Given the description of an element on the screen output the (x, y) to click on. 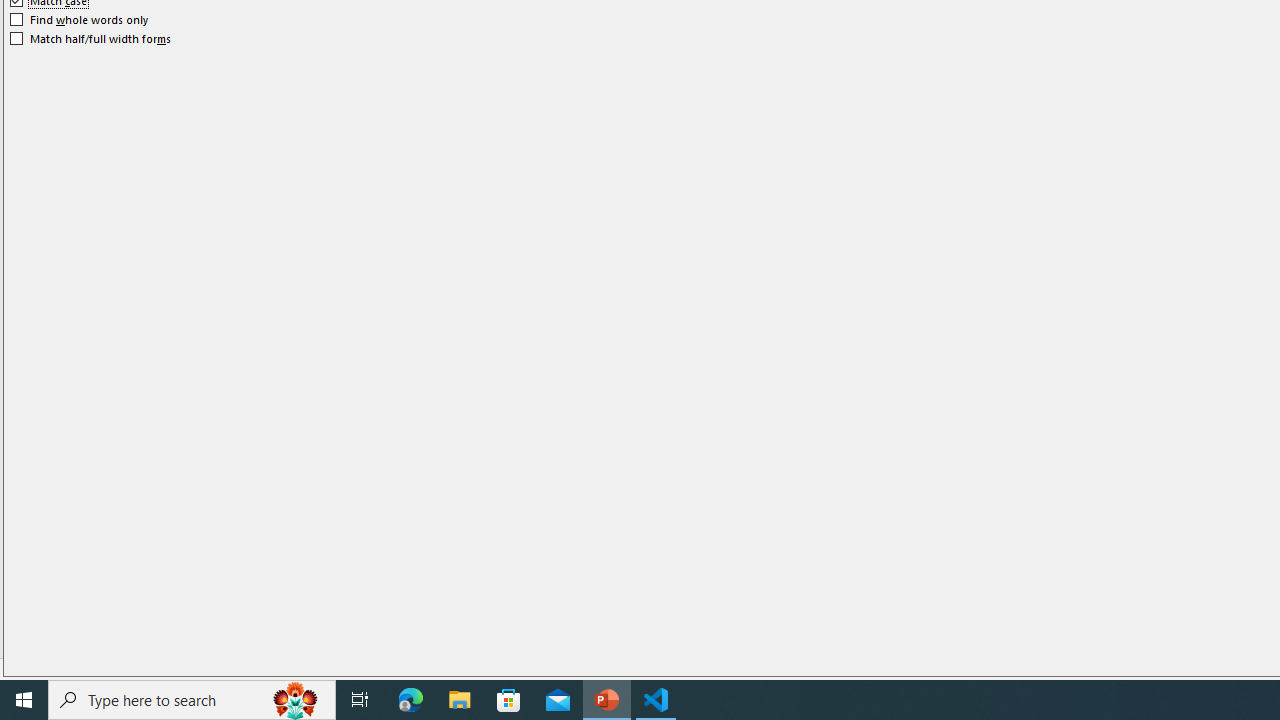
Find whole words only (79, 20)
Match half/full width forms (91, 38)
